Given the description of an element on the screen output the (x, y) to click on. 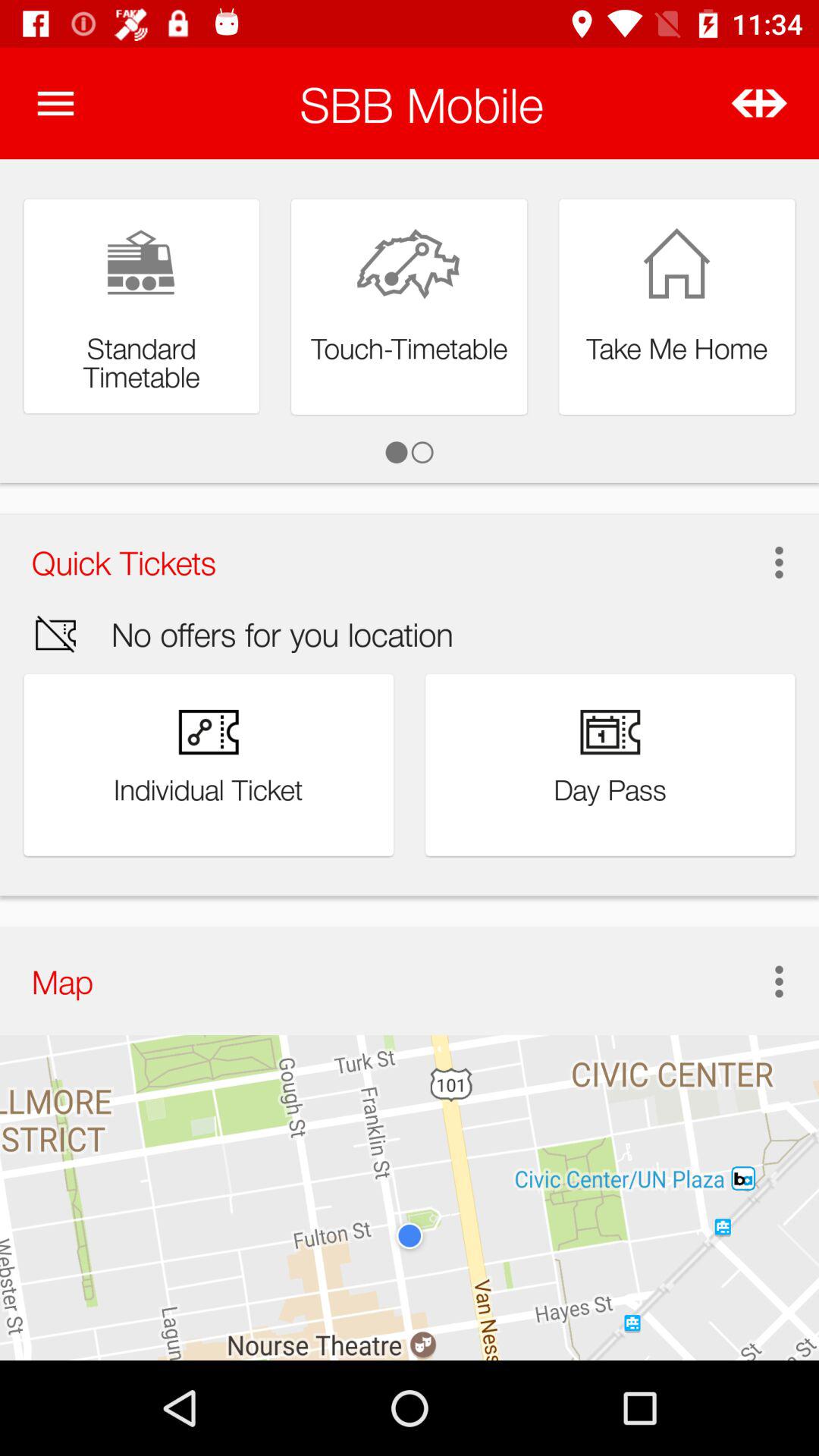
turn on the item next to the sbb mobile item (55, 103)
